Given the description of an element on the screen output the (x, y) to click on. 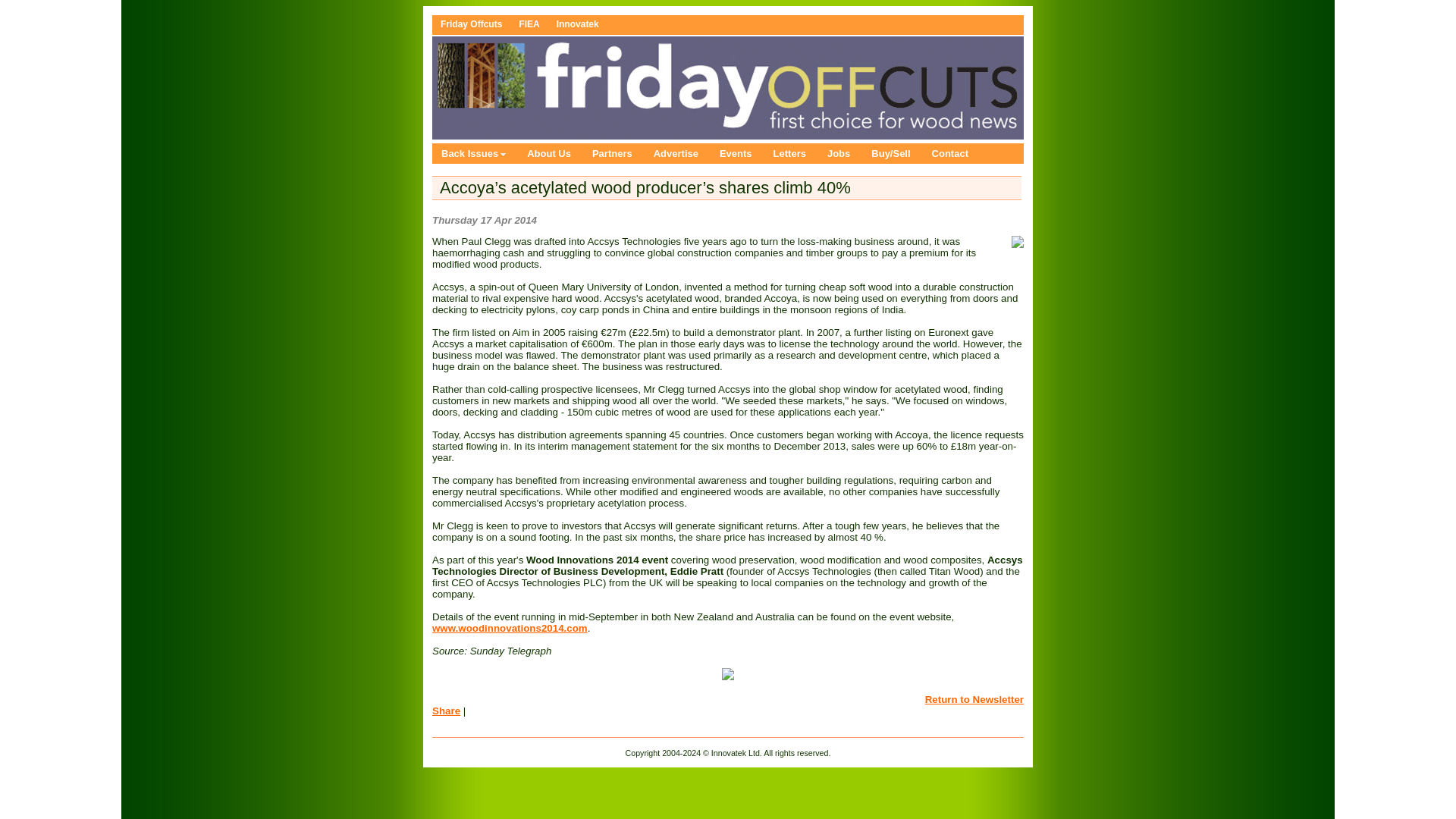
Jobs (839, 153)
Innovatek (577, 24)
FIEA (529, 24)
Events (737, 153)
Friday Offcuts (471, 24)
Letters (791, 153)
Return to Newsletter (973, 699)
Contact (951, 153)
About Us (550, 153)
Share (446, 710)
Partners (614, 153)
www.woodinnovations2014.com (510, 627)
Advertise (677, 153)
Back Issues (475, 153)
